Given the description of an element on the screen output the (x, y) to click on. 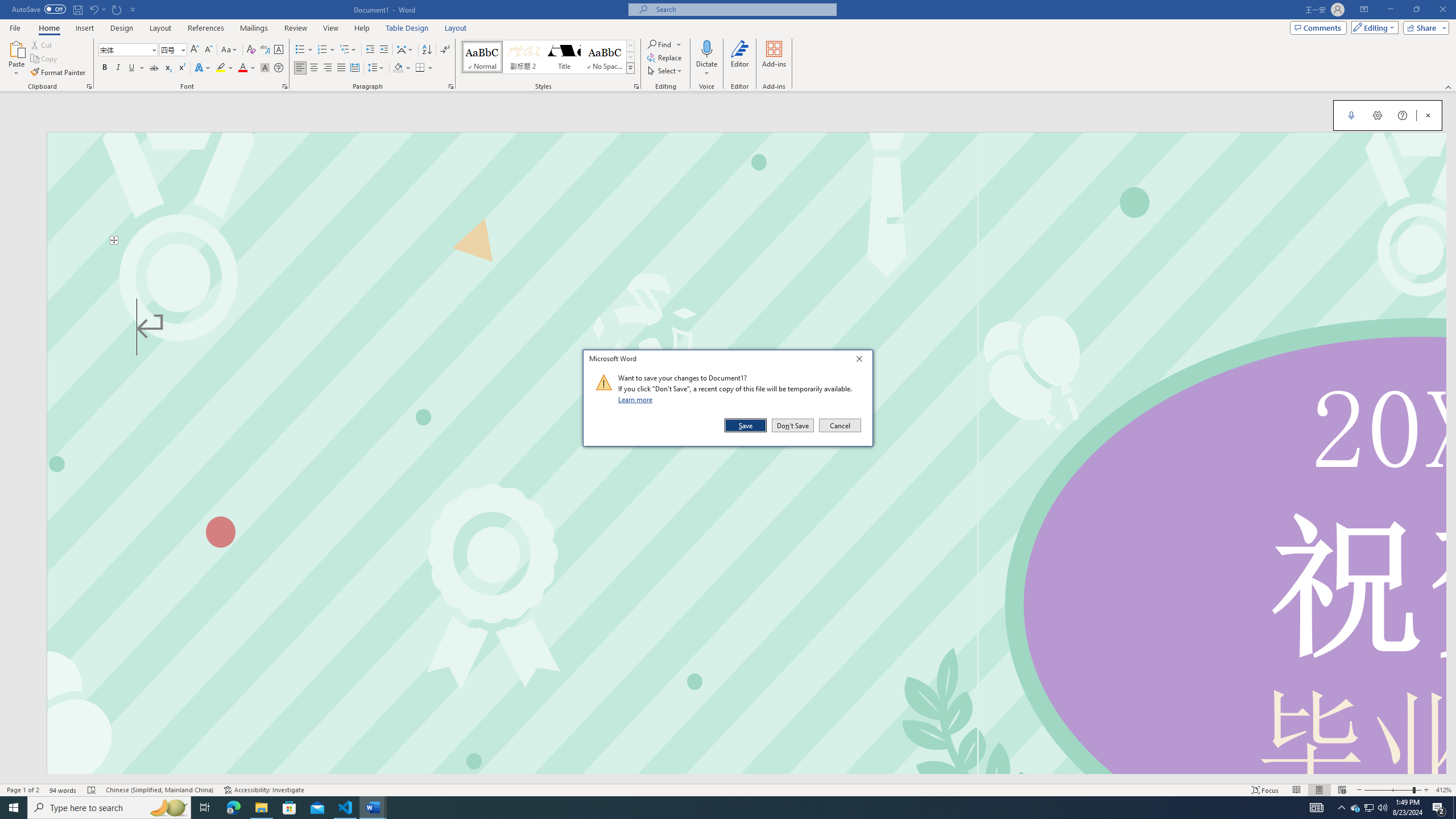
Close Dictation (1428, 115)
